Given the description of an element on the screen output the (x, y) to click on. 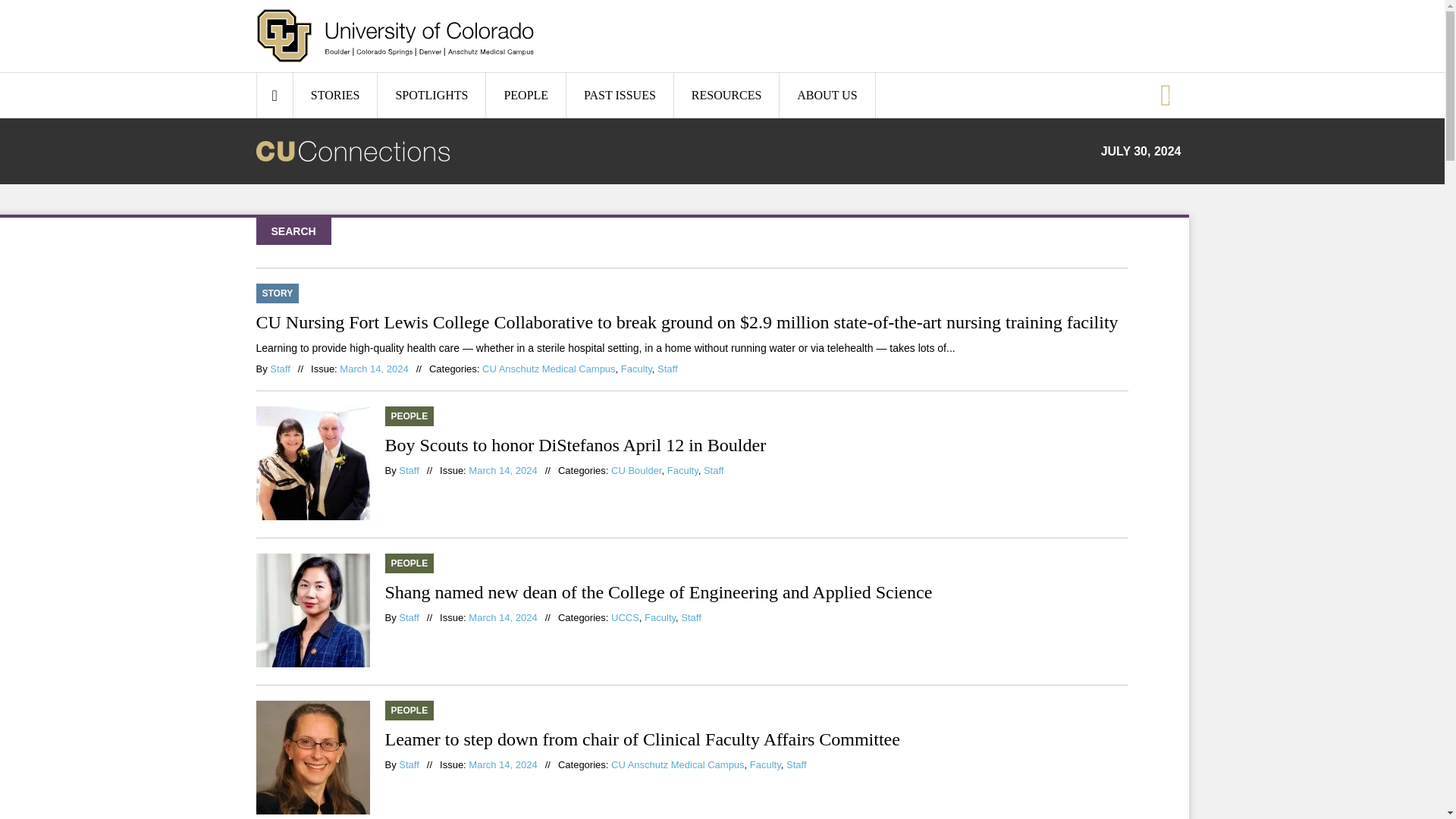
Faculty (636, 368)
PAST ISSUES (619, 94)
Staff (279, 368)
SPOTLIGHTS (430, 94)
STORIES (335, 94)
ABOUT US (826, 94)
CU Anschutz Medical Campus (548, 368)
RESOURCES (726, 94)
March 14, 2024 (373, 368)
Search (22, 8)
Home (395, 36)
PEOPLE (526, 94)
